Given the description of an element on the screen output the (x, y) to click on. 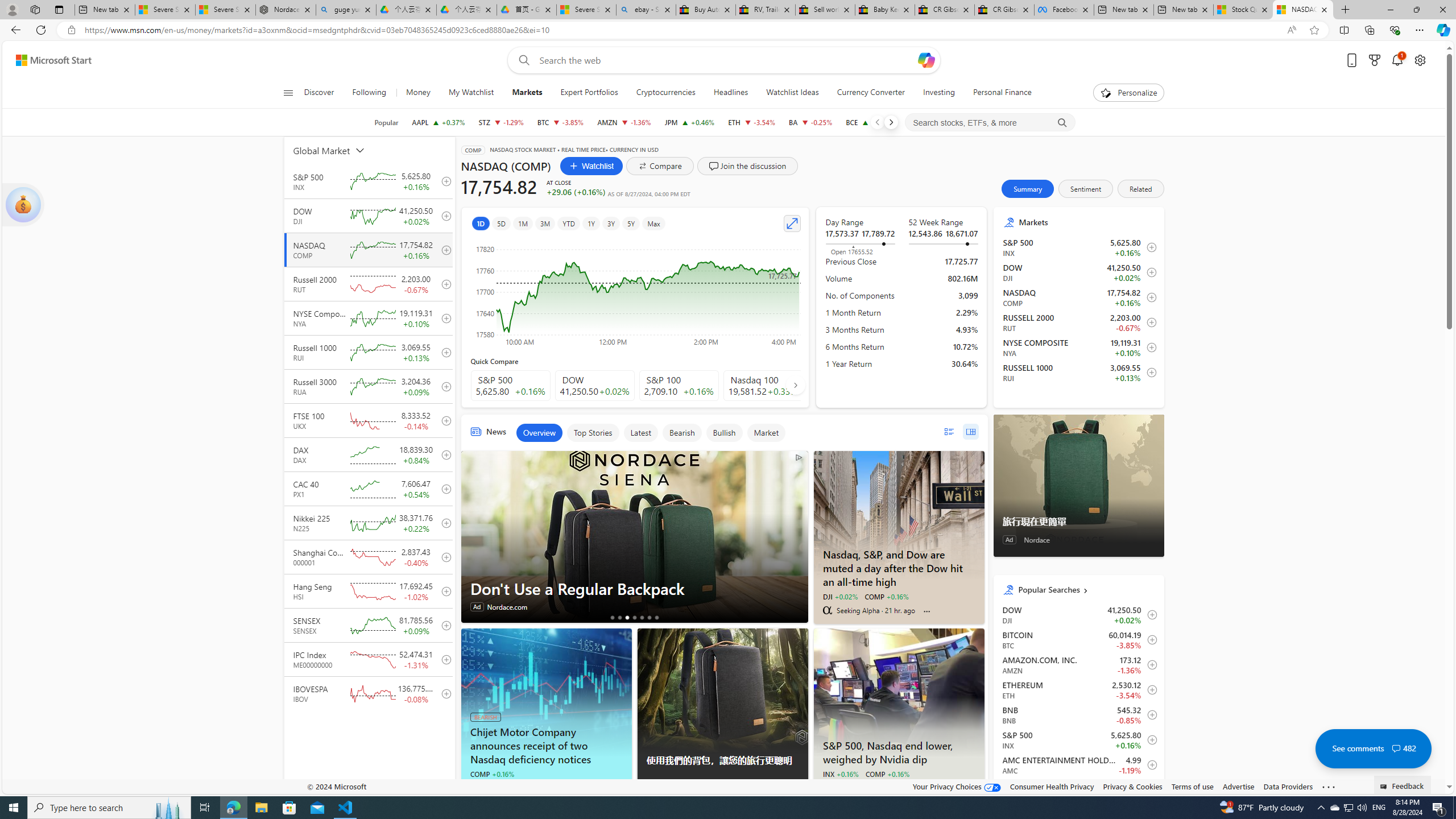
Open Copilot (926, 59)
Headlines (730, 92)
Class: cwt-icon-vector (1395, 748)
1Y (590, 223)
YTD (568, 223)
Class: button-glyph (287, 92)
Terms of use (1192, 786)
Nordace - Summer Adventures 2024 (285, 9)
Don't Use a Regular Backpack (634, 588)
